Given the description of an element on the screen output the (x, y) to click on. 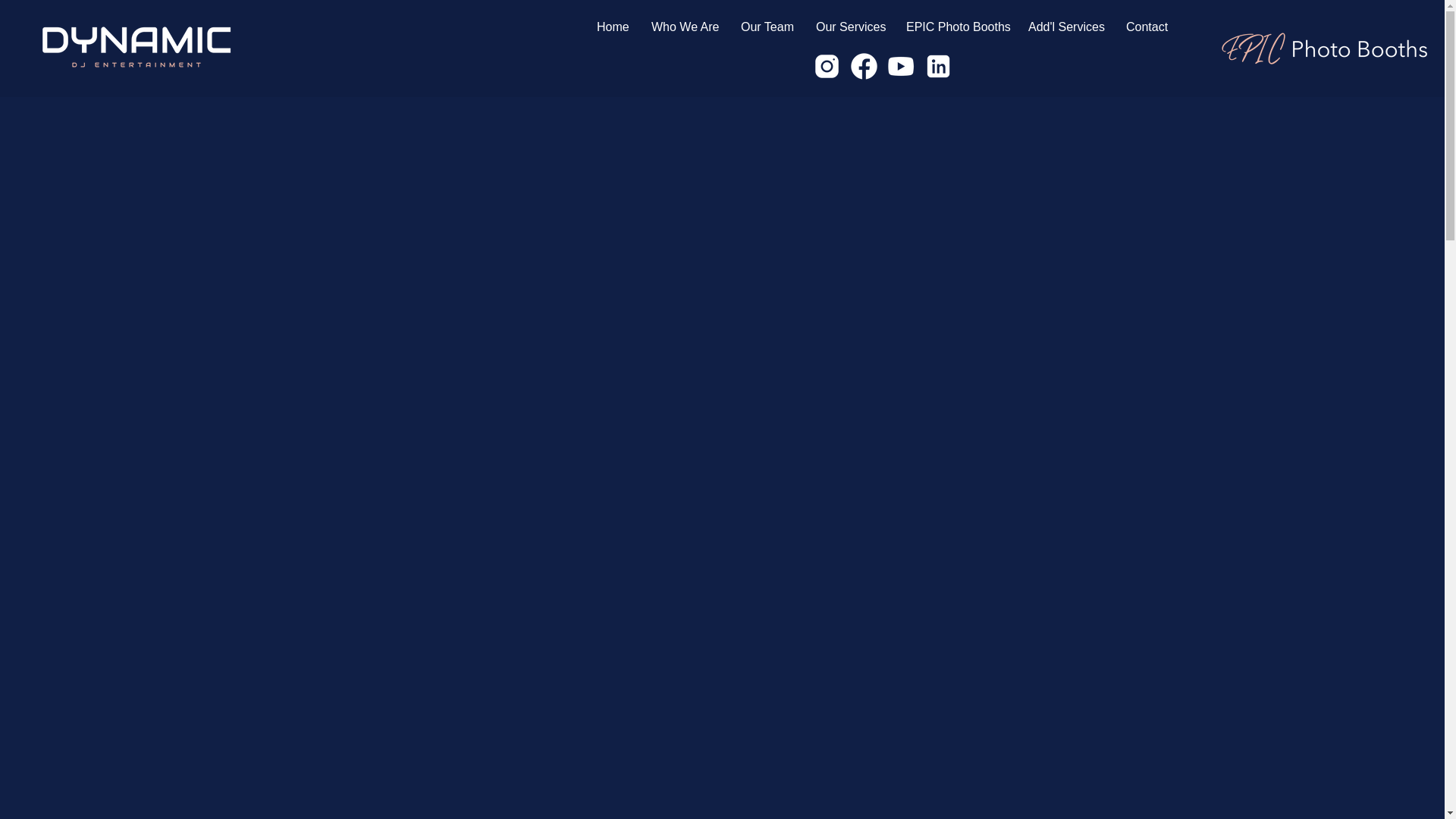
EPIC Photo Booths (955, 26)
Add'l Services (1065, 26)
Who We Are (684, 26)
Contact (1147, 26)
Our Team (767, 26)
Home (612, 26)
